Given the description of an element on the screen output the (x, y) to click on. 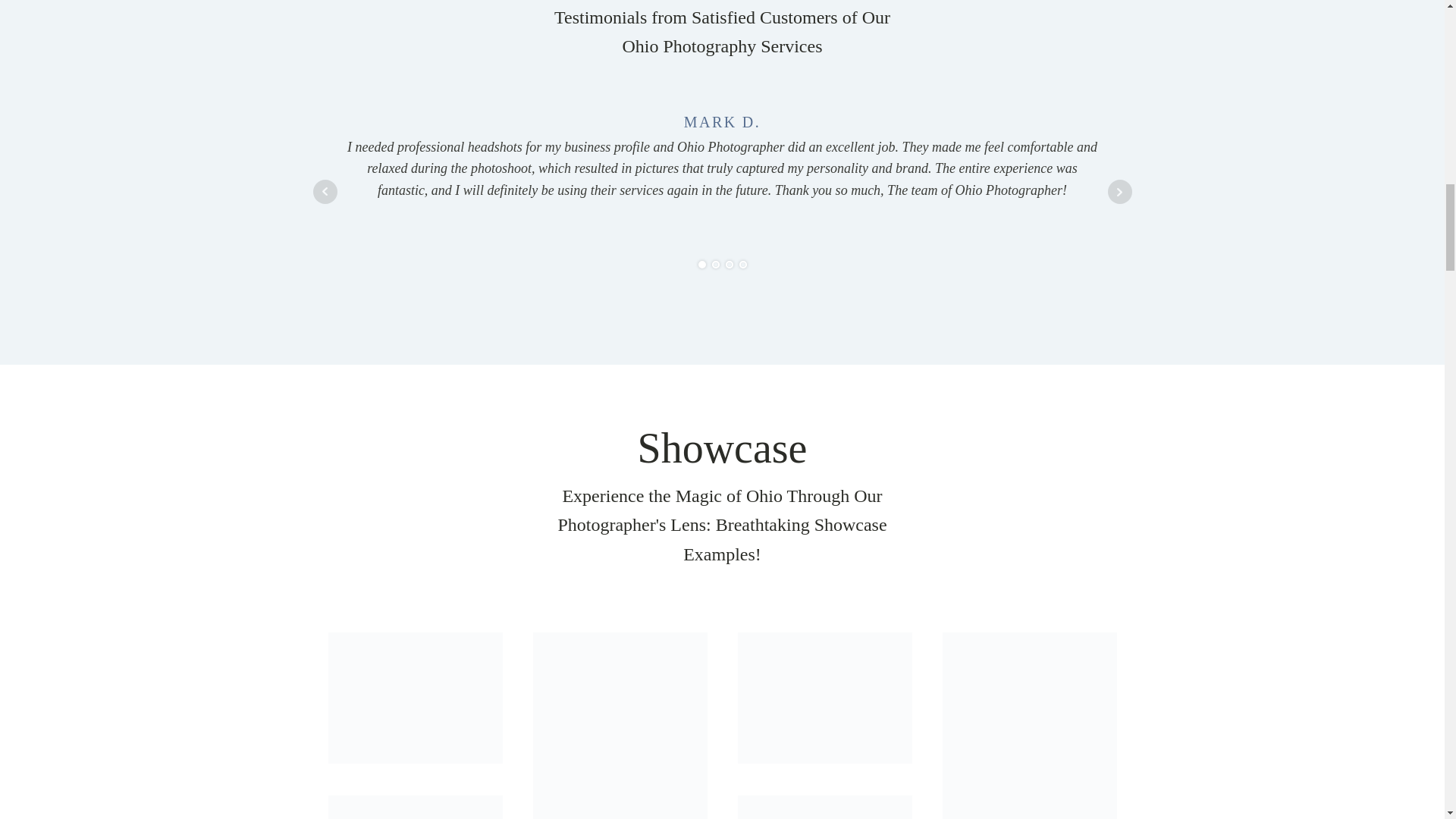
Next (1118, 191)
Prev (324, 191)
